Given the description of an element on the screen output the (x, y) to click on. 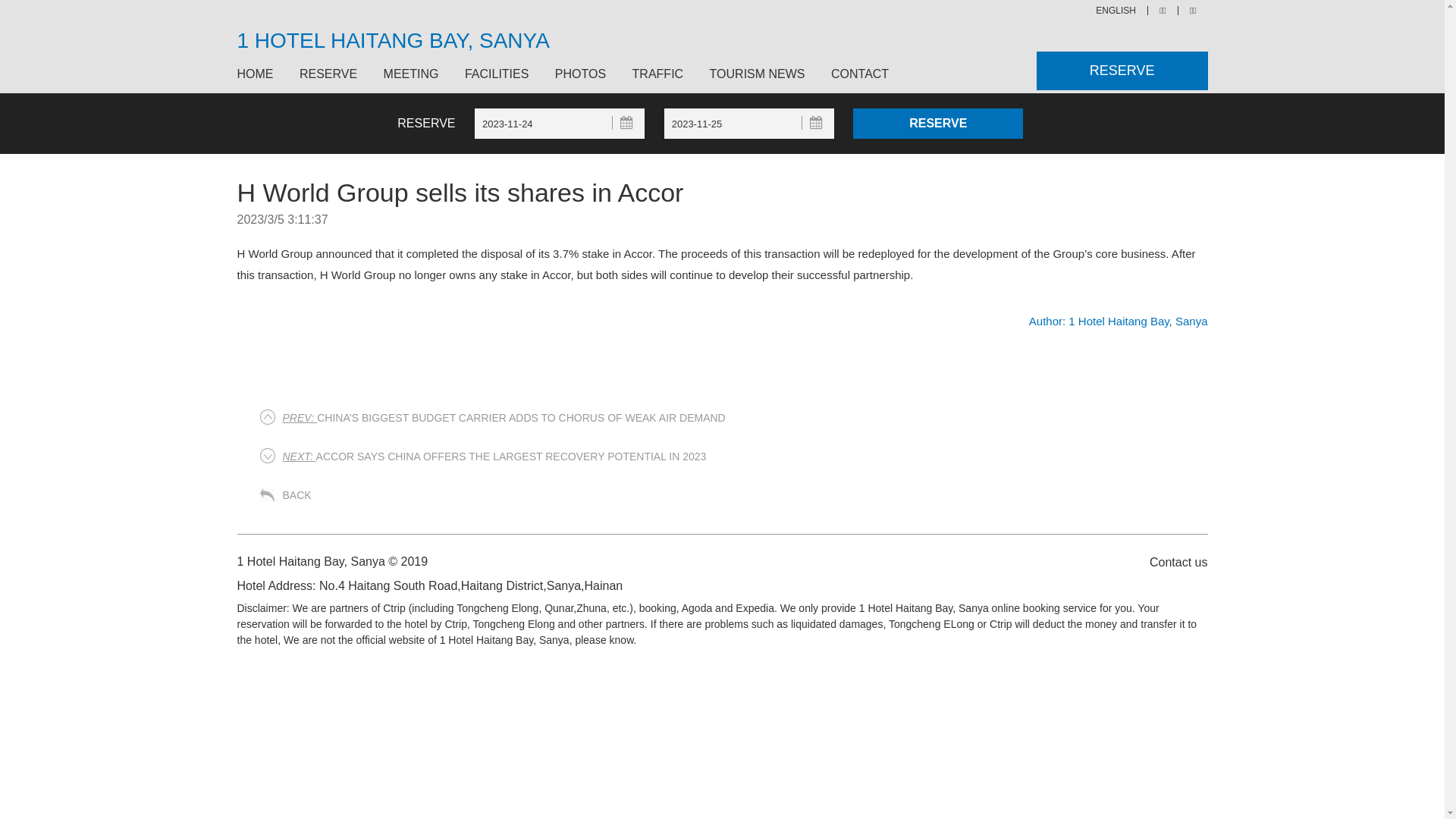
TOURISM NEWS Element type: text (757, 74)
RESERVE Element type: text (1122, 70)
HOME Element type: text (260, 74)
1 HOTEL HAITANG BAY, SANYA Element type: text (392, 40)
PHOTOS Element type: text (580, 74)
TRAFFIC Element type: text (658, 74)
Contact us Element type: text (1170, 561)
Author: 1 Hotel Haitang Bay, Sanya Element type: text (1118, 320)
FACILITIES Element type: text (496, 74)
CONTACT Element type: text (853, 74)
Reserve Element type: text (937, 123)
ENGLISH Element type: text (1115, 10)
MEETING Element type: text (411, 74)
RESERVE Element type: text (328, 74)
BACK Element type: text (296, 495)
